Given the description of an element on the screen output the (x, y) to click on. 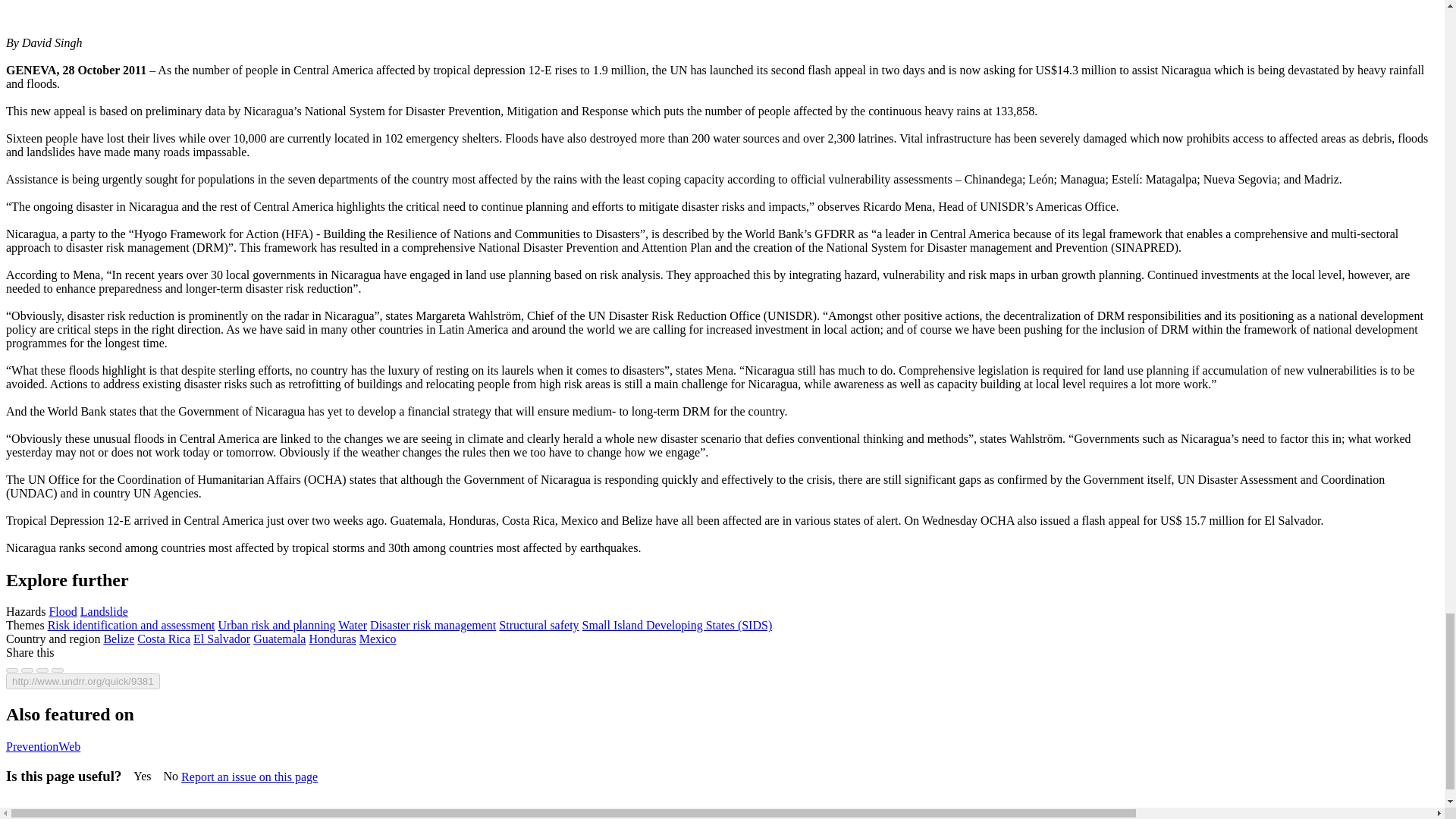
Share on Twitter (27, 670)
Share via Email (57, 670)
Copy to Clipboard (82, 681)
Share on LinkedIn (42, 670)
Share on Facebook (11, 670)
